Given the description of an element on the screen output the (x, y) to click on. 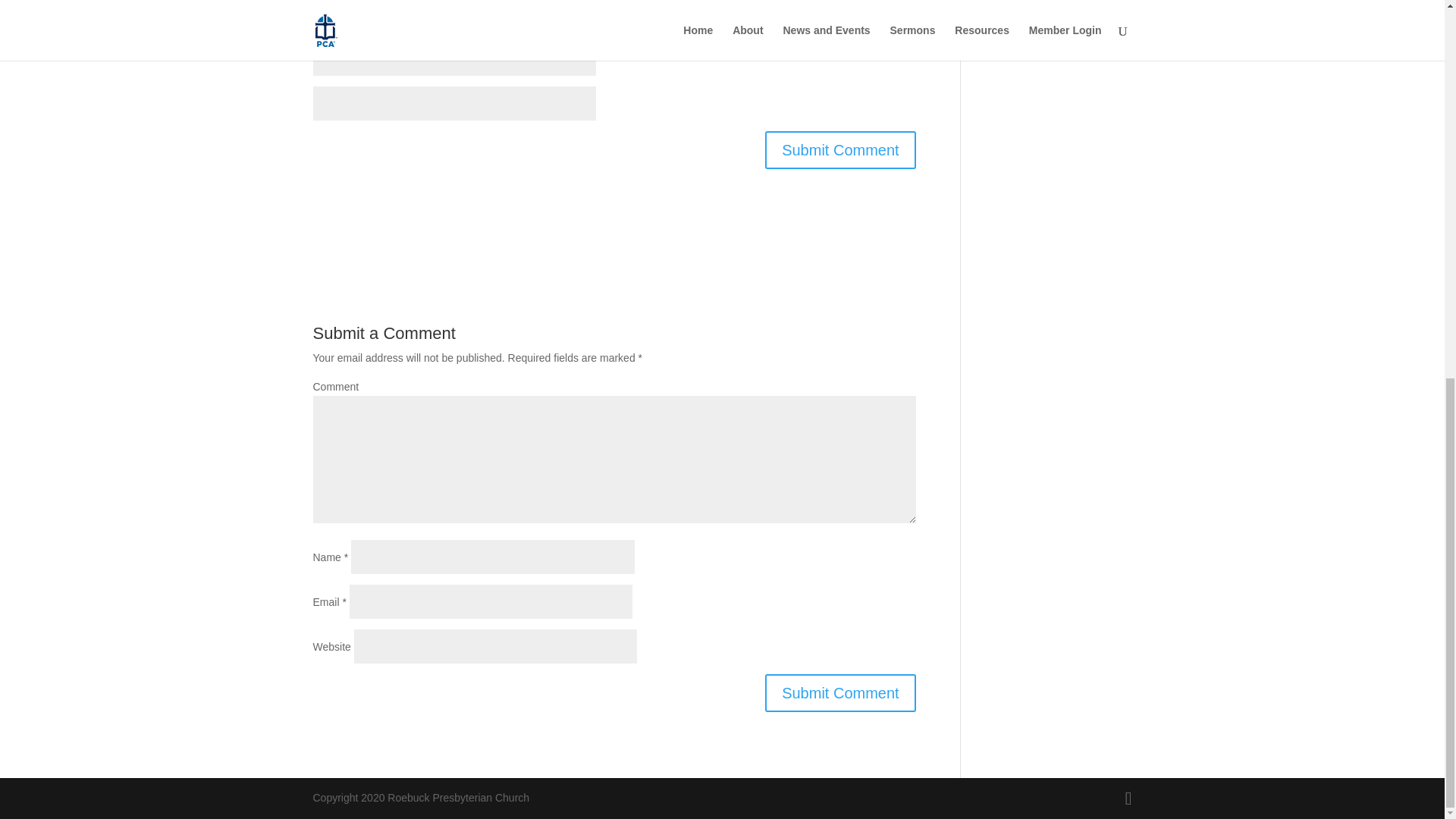
Submit Comment (840, 692)
Submit Comment (840, 692)
Submit Comment (840, 149)
Submit Comment (840, 149)
